Given the description of an element on the screen output the (x, y) to click on. 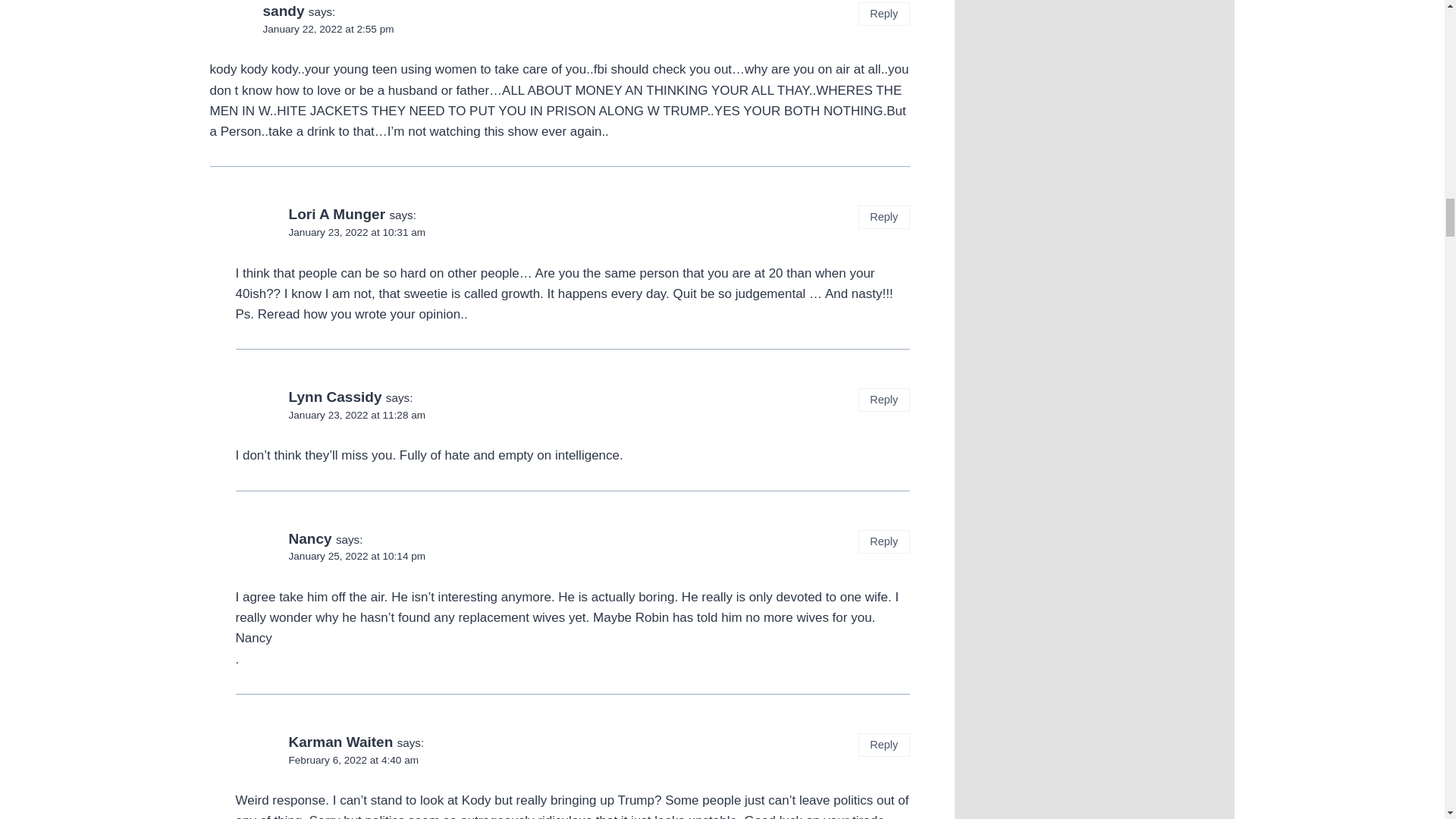
Reply (884, 13)
January 22, 2022 at 2:55 pm (327, 29)
